Given the description of an element on the screen output the (x, y) to click on. 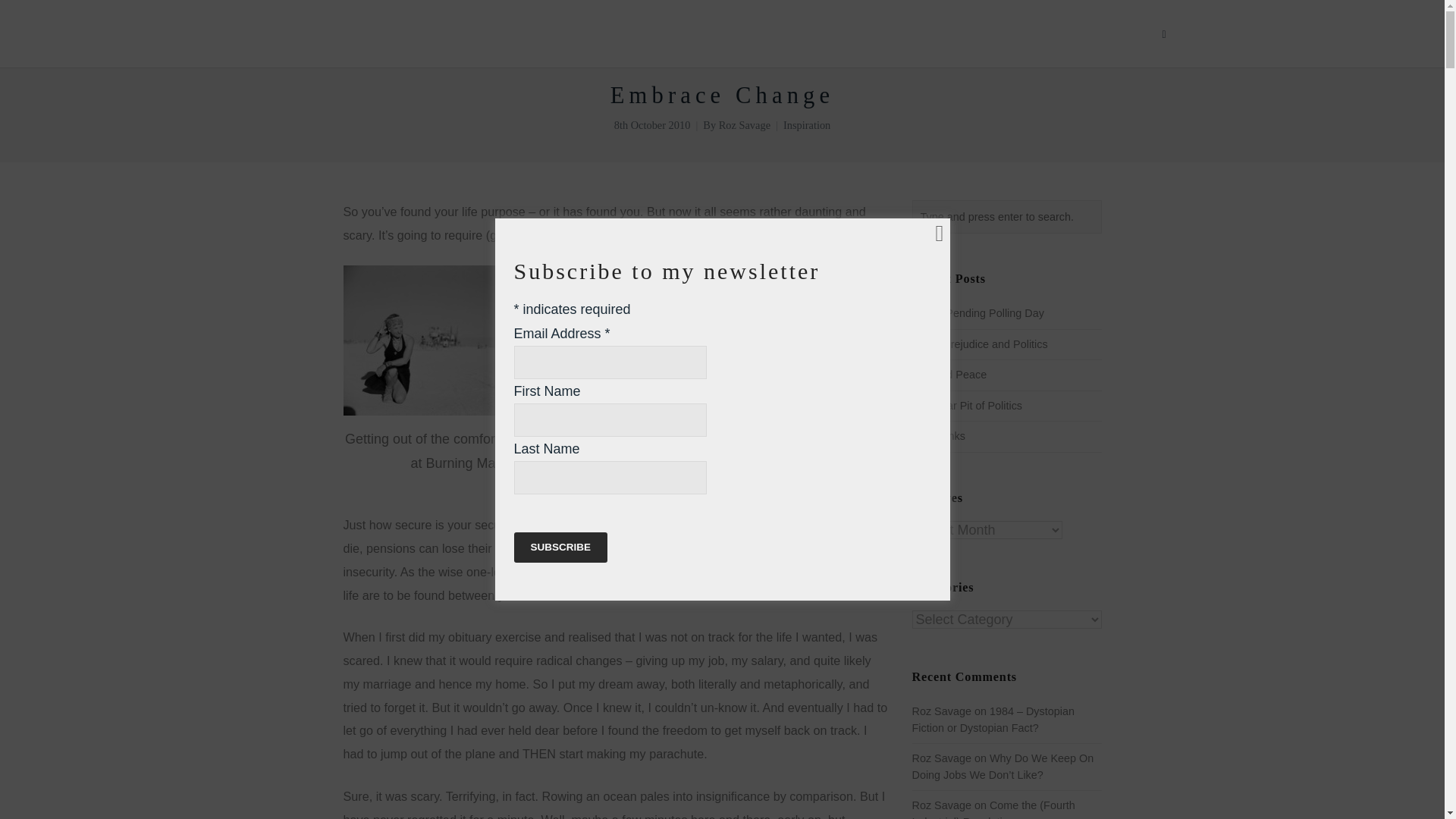
roz at burning man (456, 340)
Inspiration (806, 124)
Subscribe (560, 547)
View all posts in Inspiration (806, 124)
Movie (1122, 33)
Rower (906, 33)
Blog (1075, 33)
Roz Savage (744, 124)
Politics (727, 33)
Videos (1026, 33)
Speaker (790, 33)
Podcast (966, 33)
Author (851, 33)
